Given the description of an element on the screen output the (x, y) to click on. 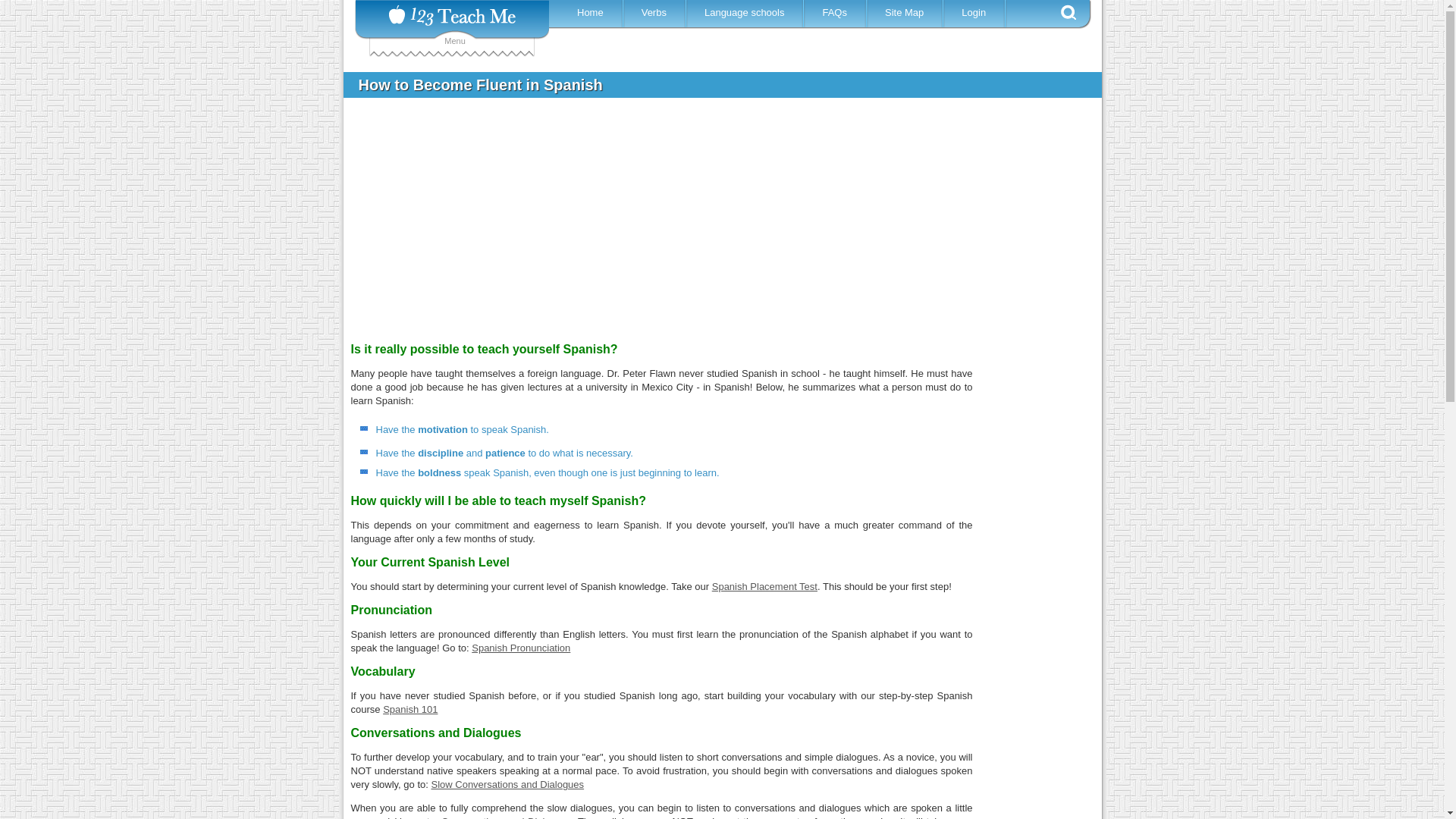
Home Element type: text (591, 12)
Spanish Placement Test Element type: text (764, 586)
Advertisement Element type: hover (1040, 575)
Site Map Element type: text (905, 12)
Verbs Element type: text (655, 12)
Login Element type: text (975, 12)
Spanish Pronunciation Element type: text (520, 647)
Advertisement Element type: hover (710, 222)
FAQs Element type: text (836, 12)
Language schools Element type: text (746, 12)
Spanish 101 Element type: text (409, 709)
Slow Conversations and Dialogues Element type: text (506, 784)
